Given the description of an element on the screen output the (x, y) to click on. 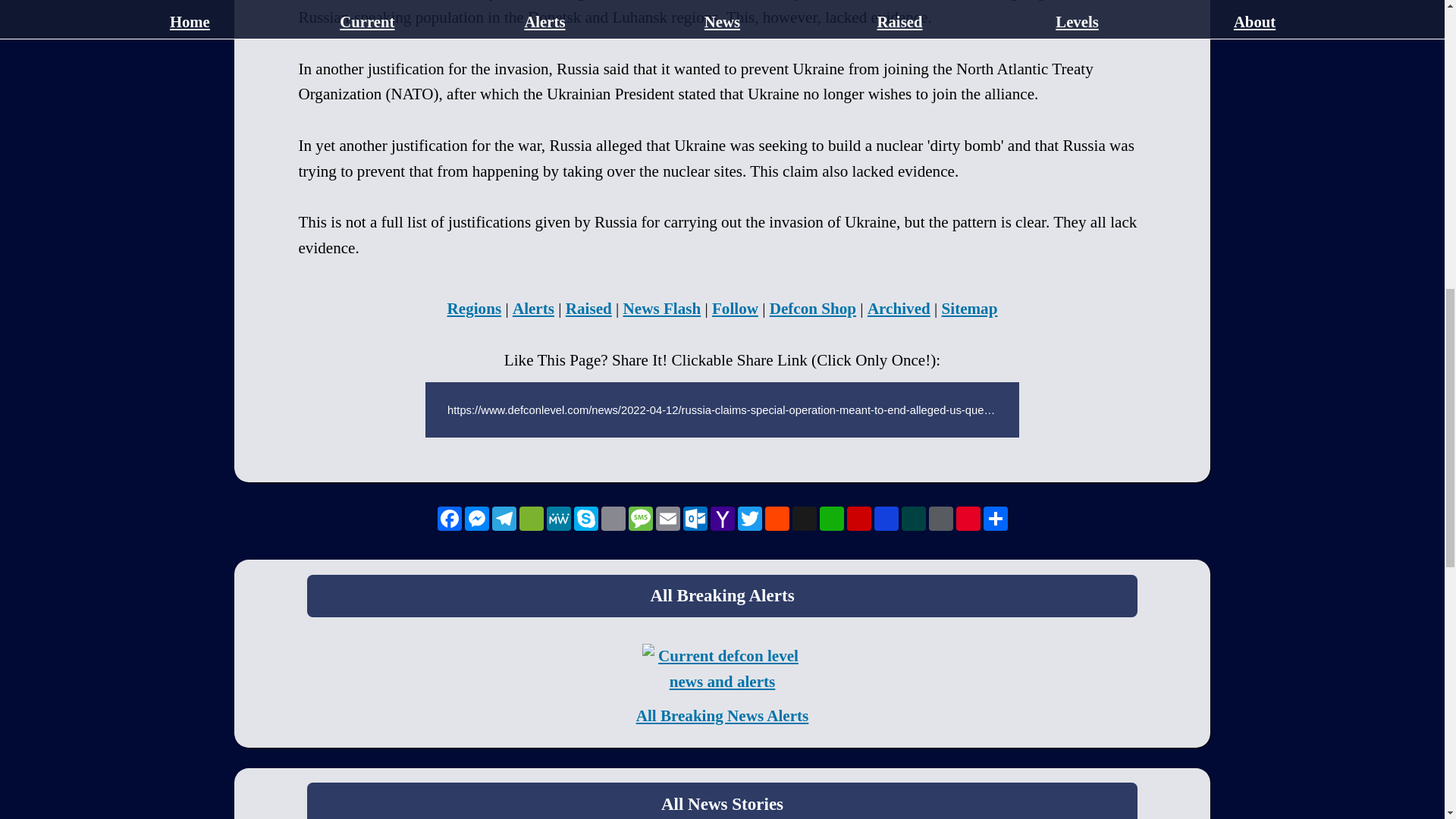
Alerts (533, 308)
Raised (588, 308)
Defcon Shop (813, 308)
Regions (474, 308)
News Flash (662, 308)
Follow (734, 308)
